Given the description of an element on the screen output the (x, y) to click on. 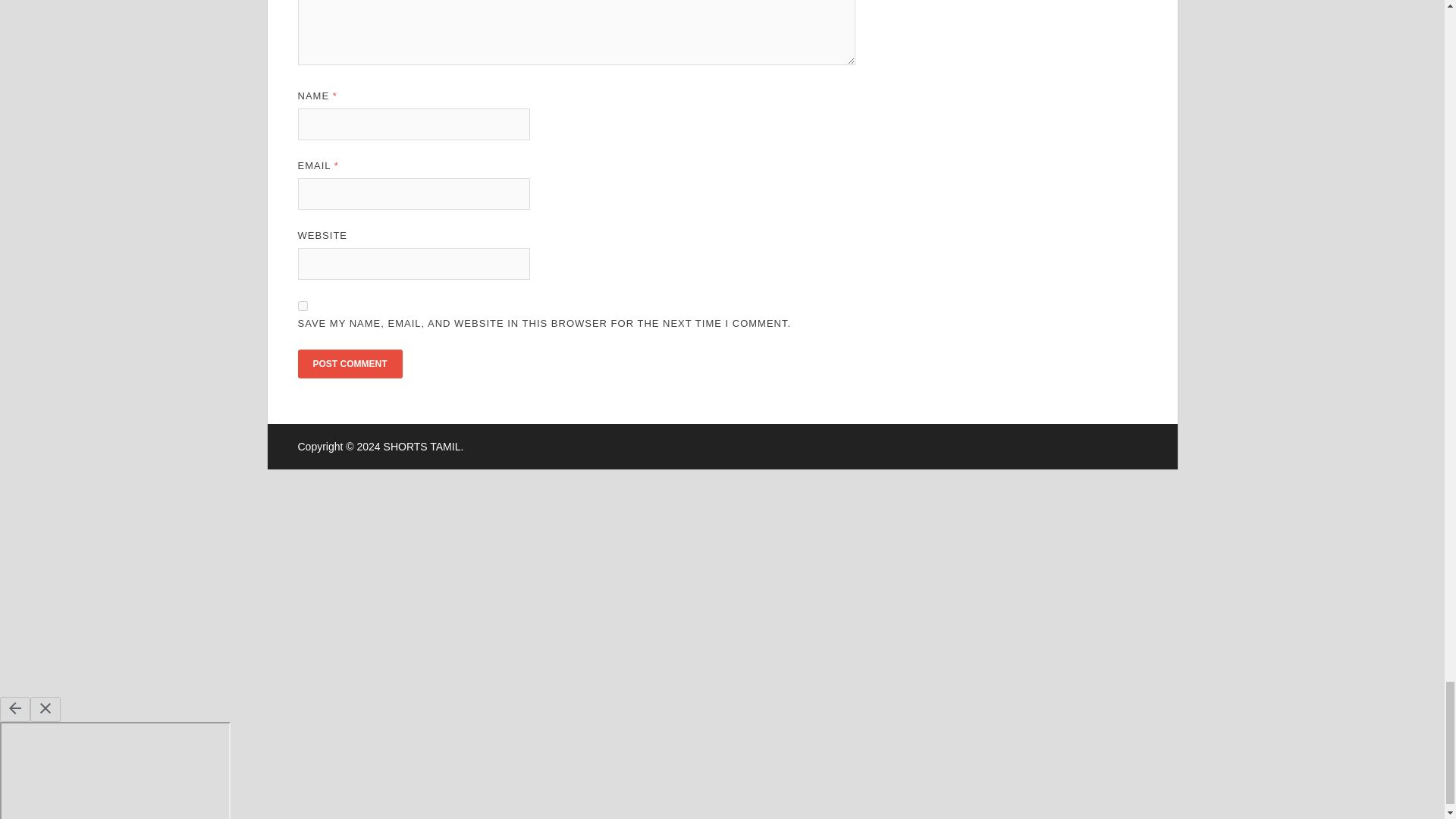
SHORTS  TAMIL (422, 446)
Post Comment (349, 363)
Post Comment (349, 363)
yes (302, 306)
